Given the description of an element on the screen output the (x, y) to click on. 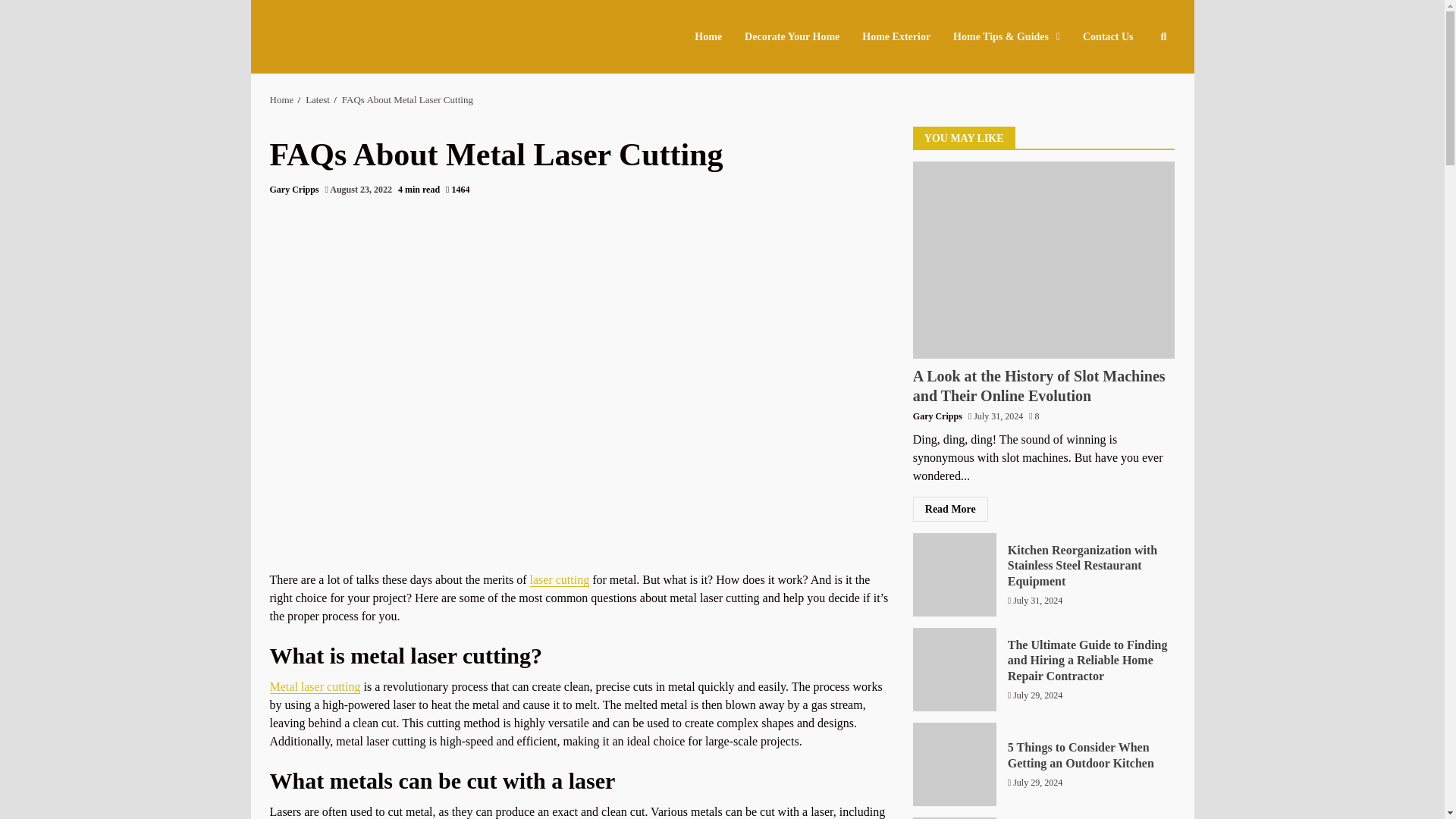
Search (1135, 82)
Decorate Your Home (791, 36)
Gary Cripps (293, 189)
Home (281, 99)
Metal laser cutting (315, 686)
Home Exterior (896, 36)
FAQs About Metal Laser Cutting (407, 99)
Contact Us (1102, 36)
1464 (456, 189)
Home (713, 36)
Latest (317, 99)
laser cutting (559, 580)
